Given the description of an element on the screen output the (x, y) to click on. 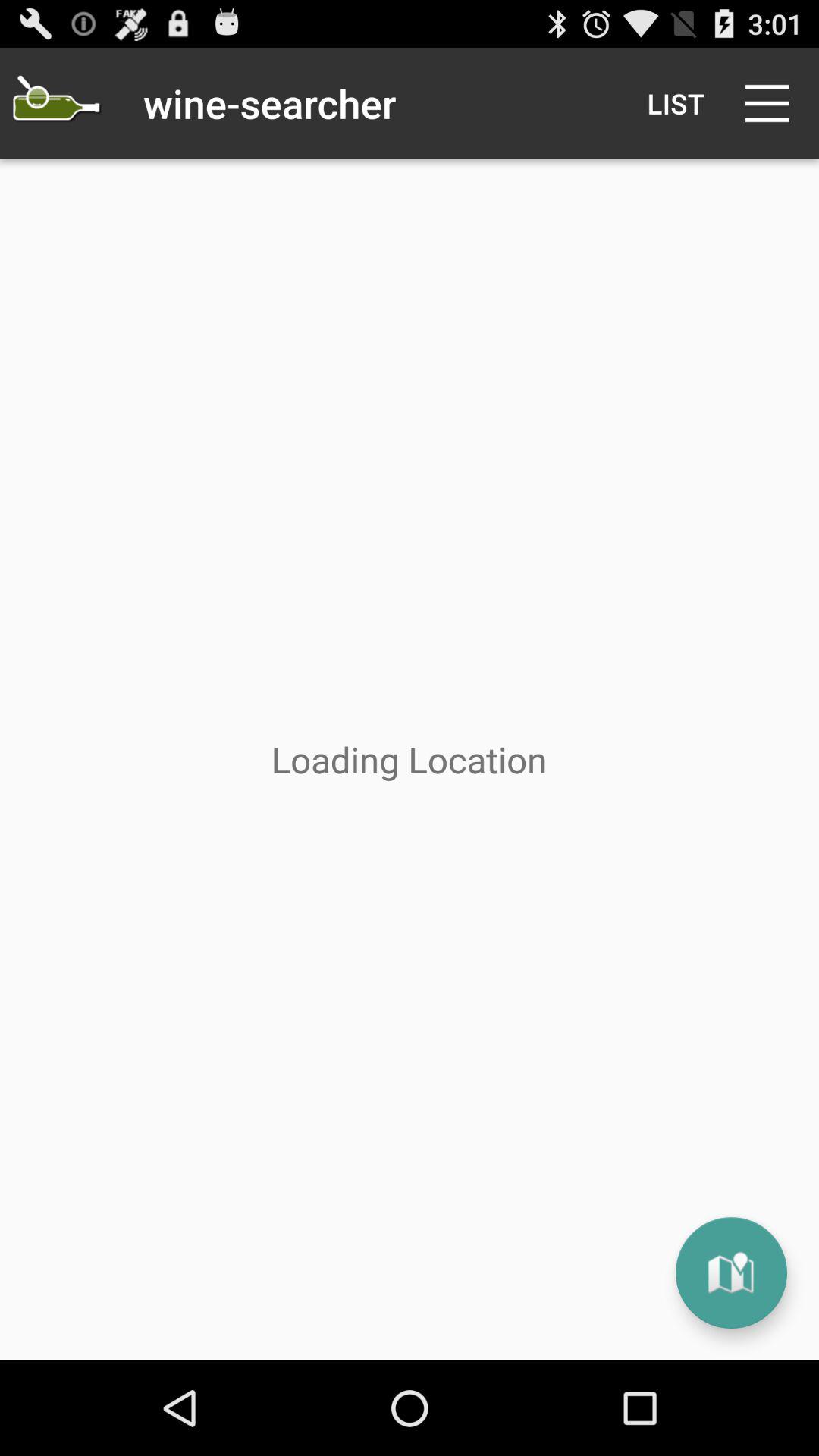
go to map (731, 1272)
